Given the description of an element on the screen output the (x, y) to click on. 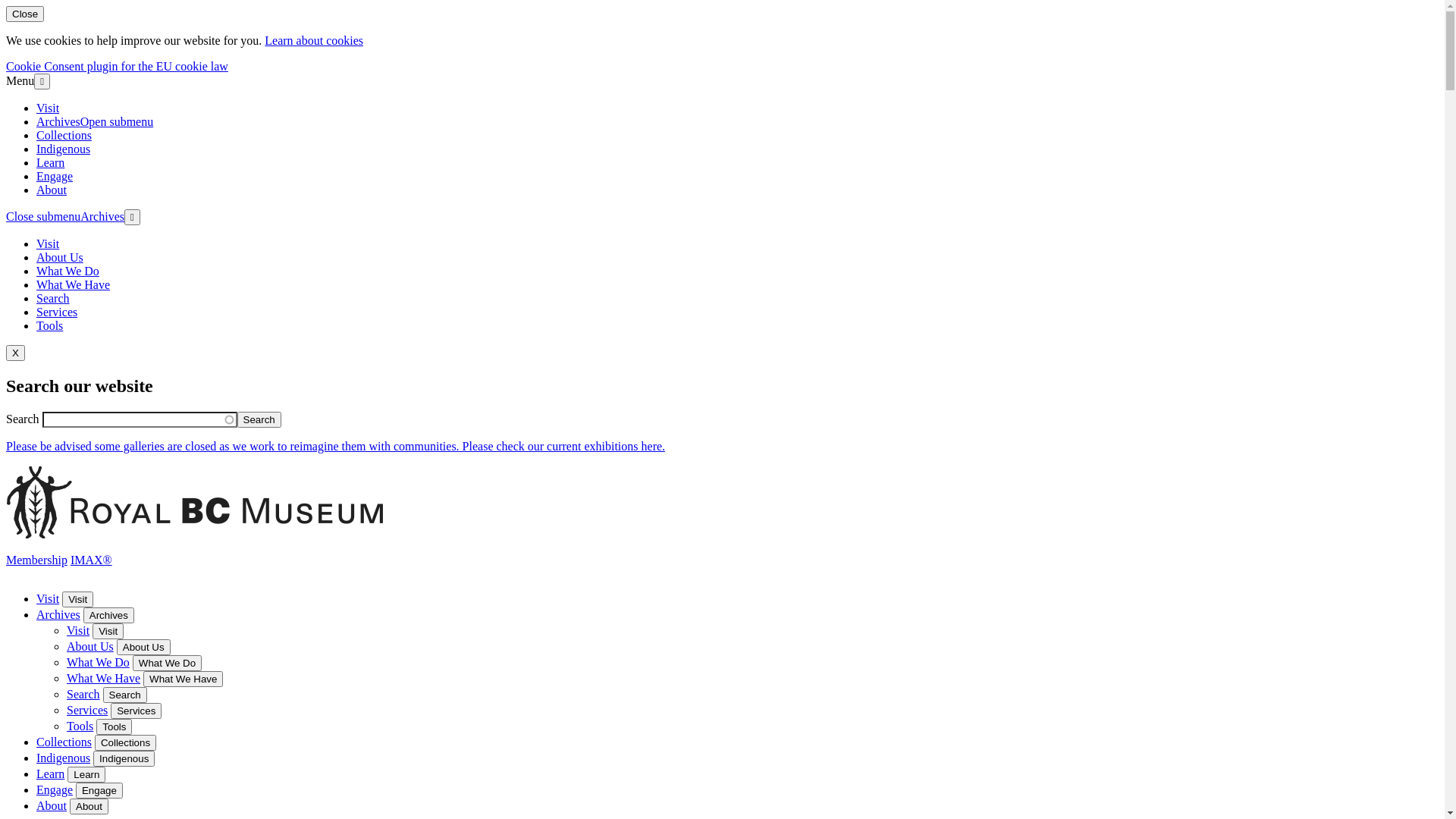
Visit Element type: text (77, 599)
What We Do Element type: text (97, 661)
Archives Element type: text (58, 121)
About Us Element type: text (59, 257)
About Element type: text (88, 806)
Close Element type: text (24, 13)
Visit Element type: text (47, 598)
About Us Element type: text (89, 646)
Engage Element type: text (54, 789)
Archives Element type: text (108, 615)
What We Have Element type: text (182, 679)
What We Do Element type: text (67, 270)
Visit Element type: text (47, 107)
Indigenous Element type: text (63, 148)
Indigenous Element type: text (123, 758)
Tools Element type: text (79, 725)
Visit Element type: text (107, 631)
Visit Element type: text (47, 243)
Archives Element type: text (58, 614)
Learn Element type: text (50, 773)
Search Element type: text (52, 297)
Services Element type: text (135, 710)
Visit Element type: text (77, 630)
Archives Element type: text (102, 216)
Collections Element type: text (63, 134)
Tools Element type: text (49, 325)
Services Element type: text (56, 311)
About Element type: text (51, 805)
Menu Element type: text (20, 80)
Cookie Consent plugin for the EU cookie law Element type: text (117, 65)
Skip to main content Element type: text (6, 345)
Open submenu Element type: text (116, 121)
About Element type: text (51, 189)
X Element type: text (15, 352)
Engage Element type: text (54, 175)
Services Element type: text (86, 709)
Search Element type: text (125, 694)
Collections Element type: text (63, 741)
What We Do Element type: text (166, 663)
Indigenous Element type: text (63, 757)
Tools Element type: text (113, 726)
Learn Element type: text (86, 774)
Collections Element type: text (125, 742)
What We Have Element type: text (103, 677)
Learn about cookies Element type: text (313, 40)
Engage Element type: text (98, 790)
Learn Element type: text (50, 162)
About Us Element type: text (143, 647)
Search Element type: text (259, 419)
Membership Element type: text (36, 559)
Close submenu Element type: text (43, 216)
Search Element type: text (83, 693)
What We Have Element type: text (72, 284)
